Given the description of an element on the screen output the (x, y) to click on. 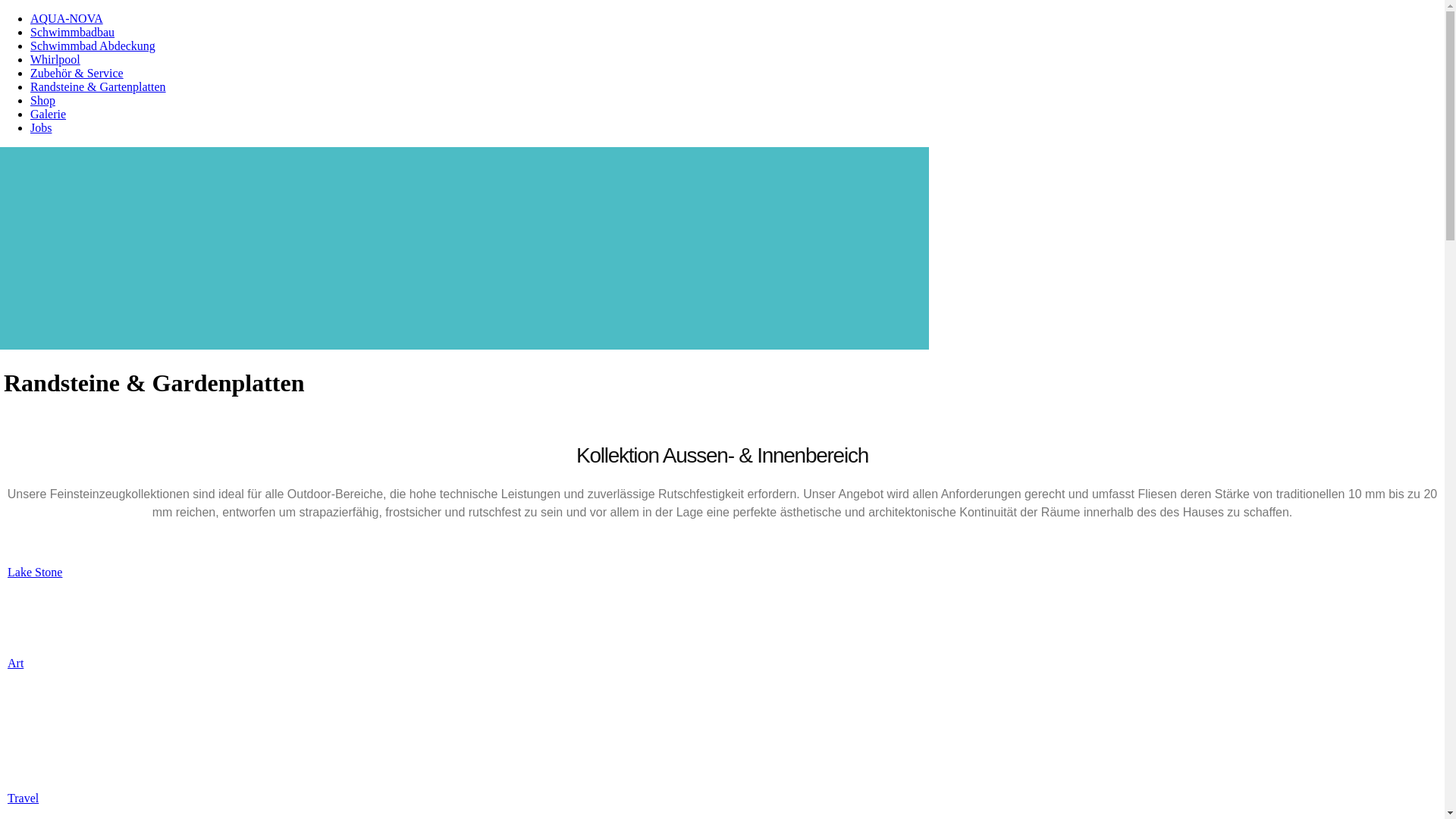
Randsteine & Gartenplatten Element type: text (98, 86)
AQUA-NOVA Element type: text (66, 18)
Jobs Element type: text (40, 127)
Galerie Element type: text (47, 113)
Schwimmbad Abdeckung Element type: text (92, 45)
Schwimmbadbau Element type: text (72, 31)
Whirlpool Element type: text (55, 59)
Art Element type: text (15, 662)
Travel Element type: text (22, 797)
Shop Element type: text (42, 100)
Lake Stone Element type: text (34, 571)
